Given the description of an element on the screen output the (x, y) to click on. 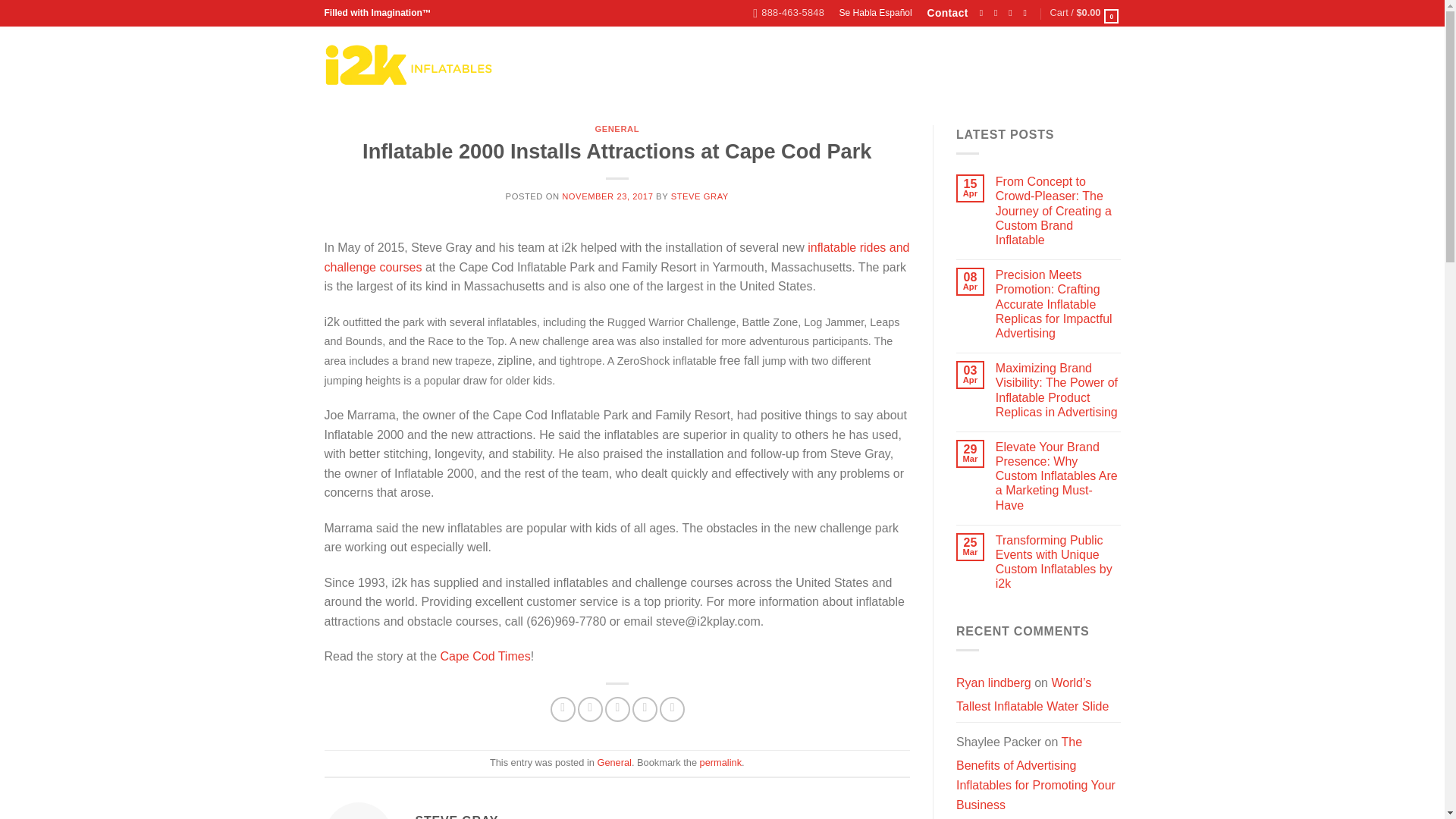
AMUSEMENT INFLATABLES (598, 67)
Share on Twitter (590, 708)
PROMOTIONAL INFLATABLES (763, 67)
i2k Inflatable - Filled with imagination (408, 64)
888-463-5848  (788, 12)
Cart (1085, 12)
Email to a Friend (617, 708)
888-463-5848 (788, 12)
Share on Facebook (562, 708)
Contact (946, 13)
